Given the description of an element on the screen output the (x, y) to click on. 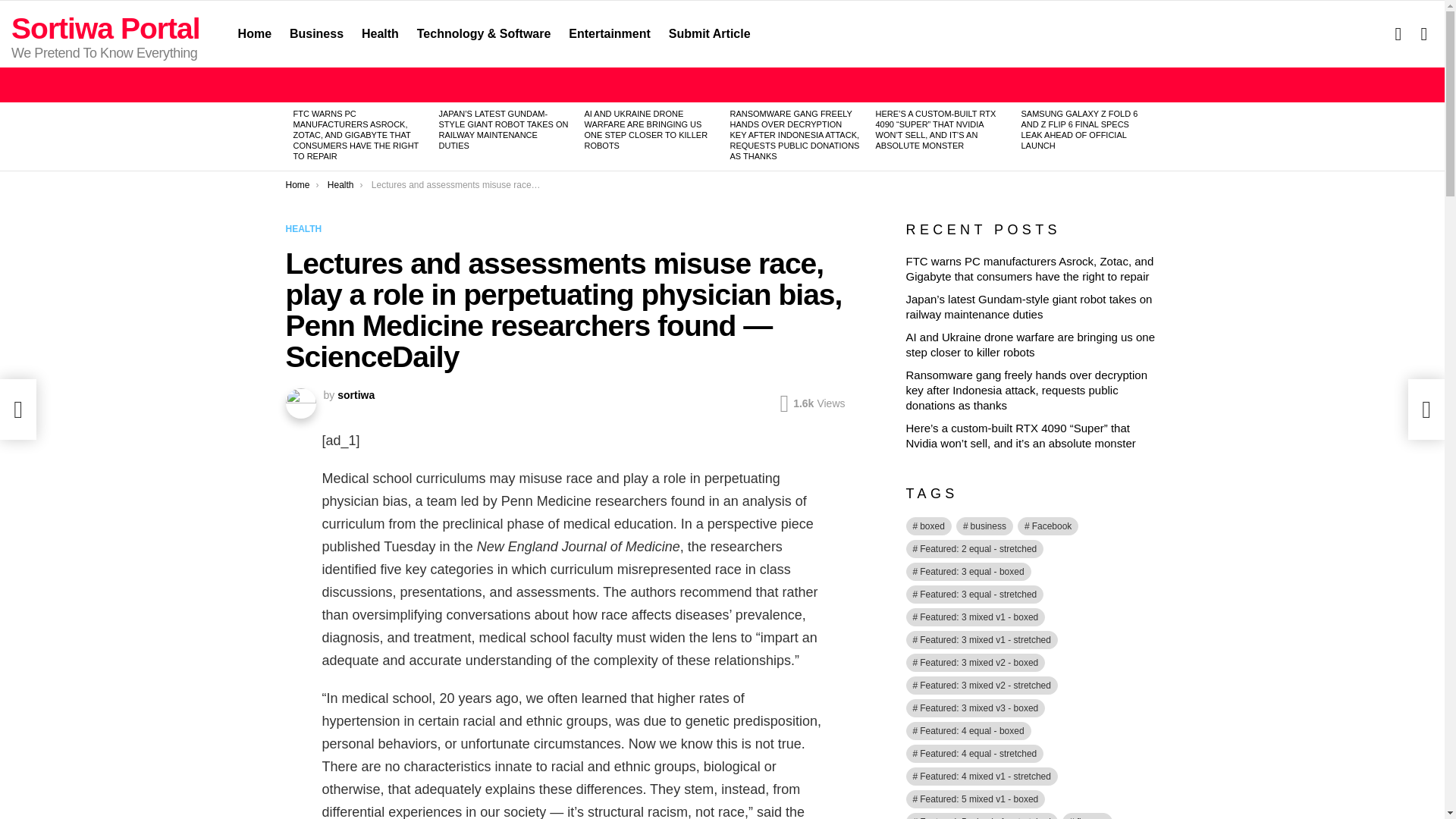
Business (316, 33)
Home (254, 33)
Entertainment (609, 33)
Sortiwa Portal (105, 28)
HEALTH (306, 228)
sortiwa (355, 395)
Posts by sortiwa (355, 395)
Home (296, 184)
Health (379, 33)
Health (340, 184)
Submit Article (709, 33)
